Given the description of an element on the screen output the (x, y) to click on. 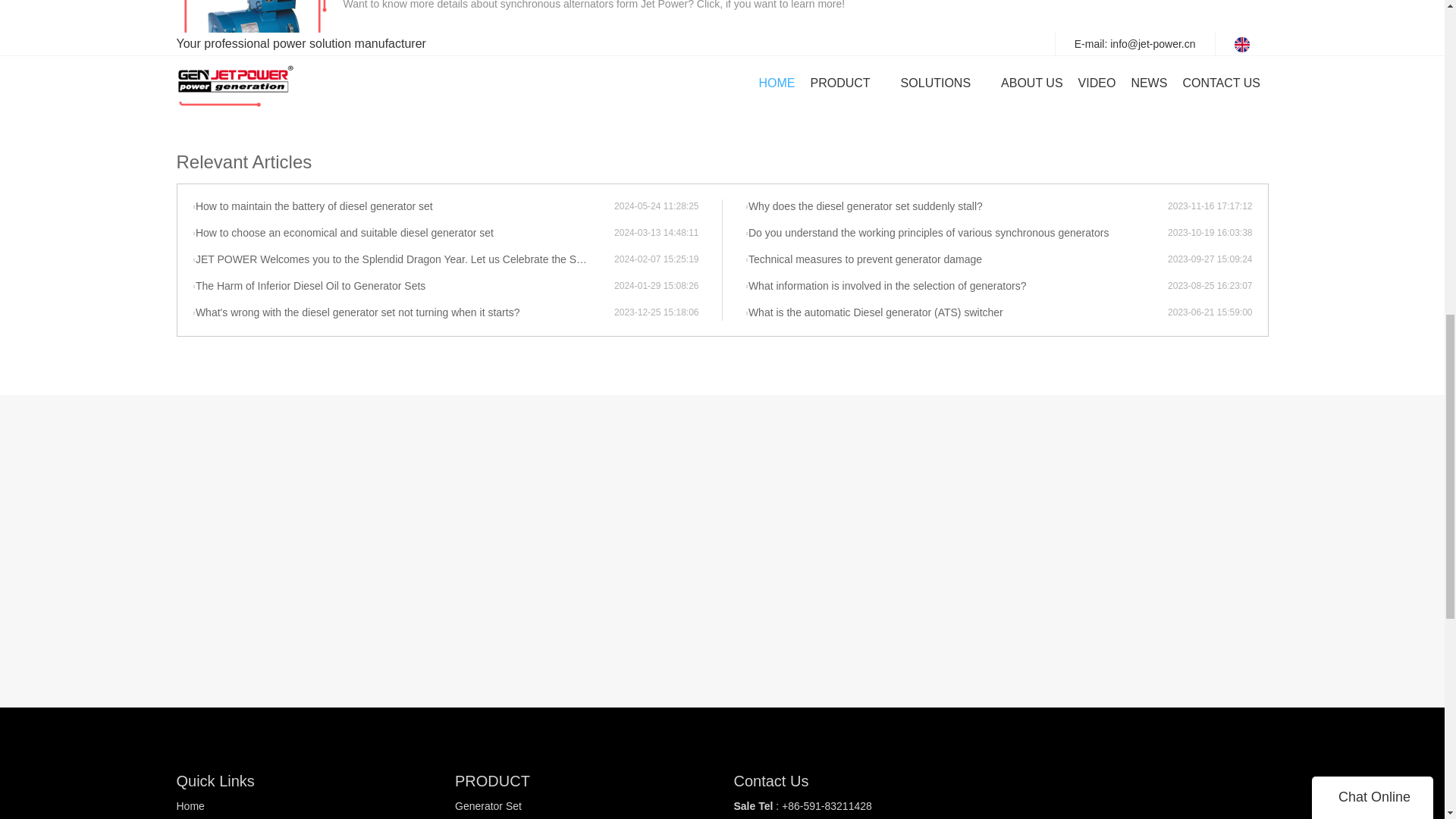
Why does the diesel generator set suddenly stall? (955, 206)
What information is involved in the selection of generators? (955, 286)
Technical measures to prevent generator damage (955, 259)
The Harm of Inferior Diesel Oil to Generator Sets (403, 286)
How to maintain the battery of diesel generator set (403, 206)
